Given the description of an element on the screen output the (x, y) to click on. 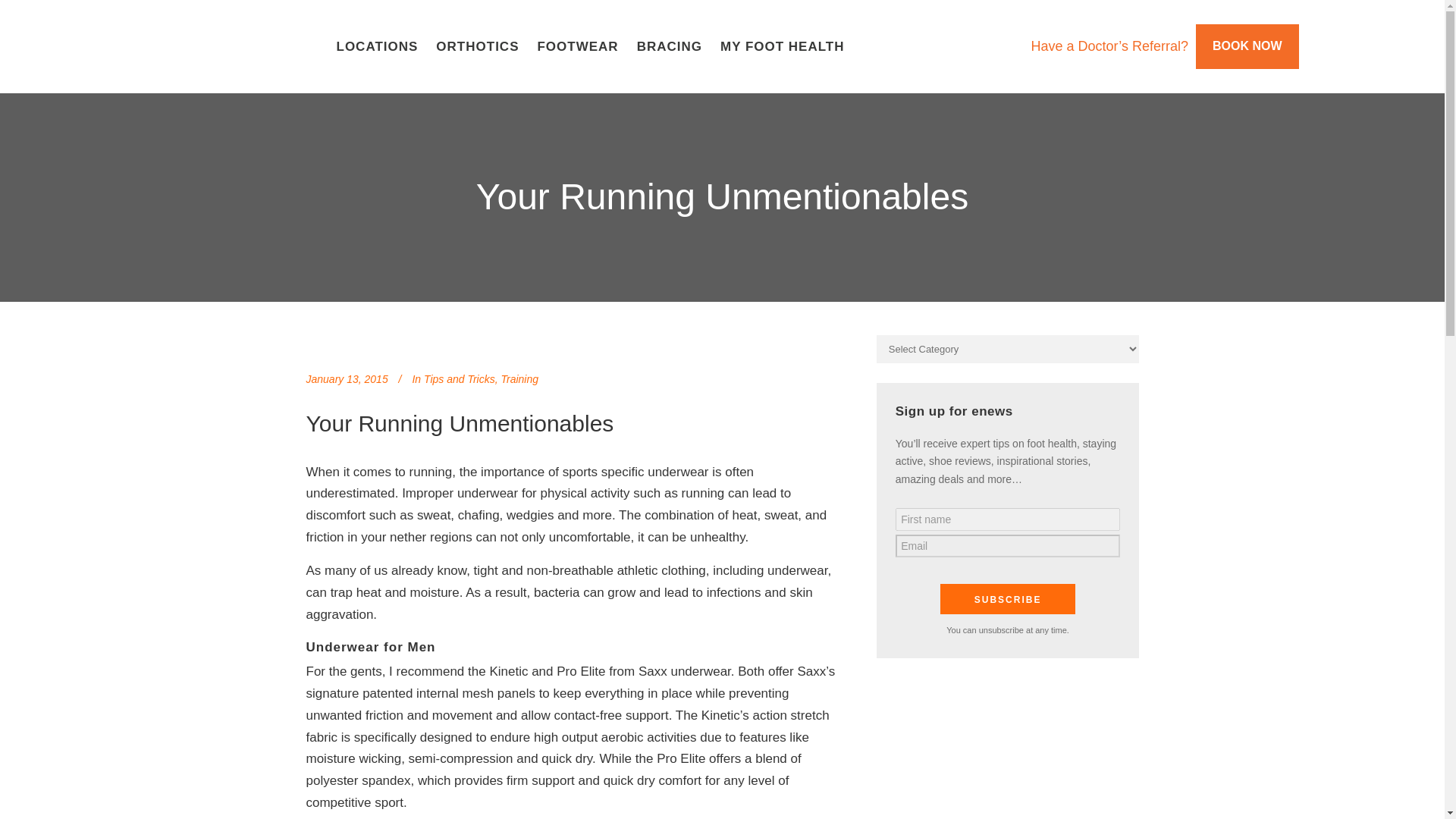
Tips and Tricks (459, 378)
FOOTWEAR (577, 46)
BOOK NOW (1246, 46)
MY FOOT HEALTH (782, 46)
Training (519, 378)
LOCATIONS (377, 46)
BRACING (669, 46)
ORTHOTICS (476, 46)
SUBSCRIBE (1007, 598)
